Given the description of an element on the screen output the (x, y) to click on. 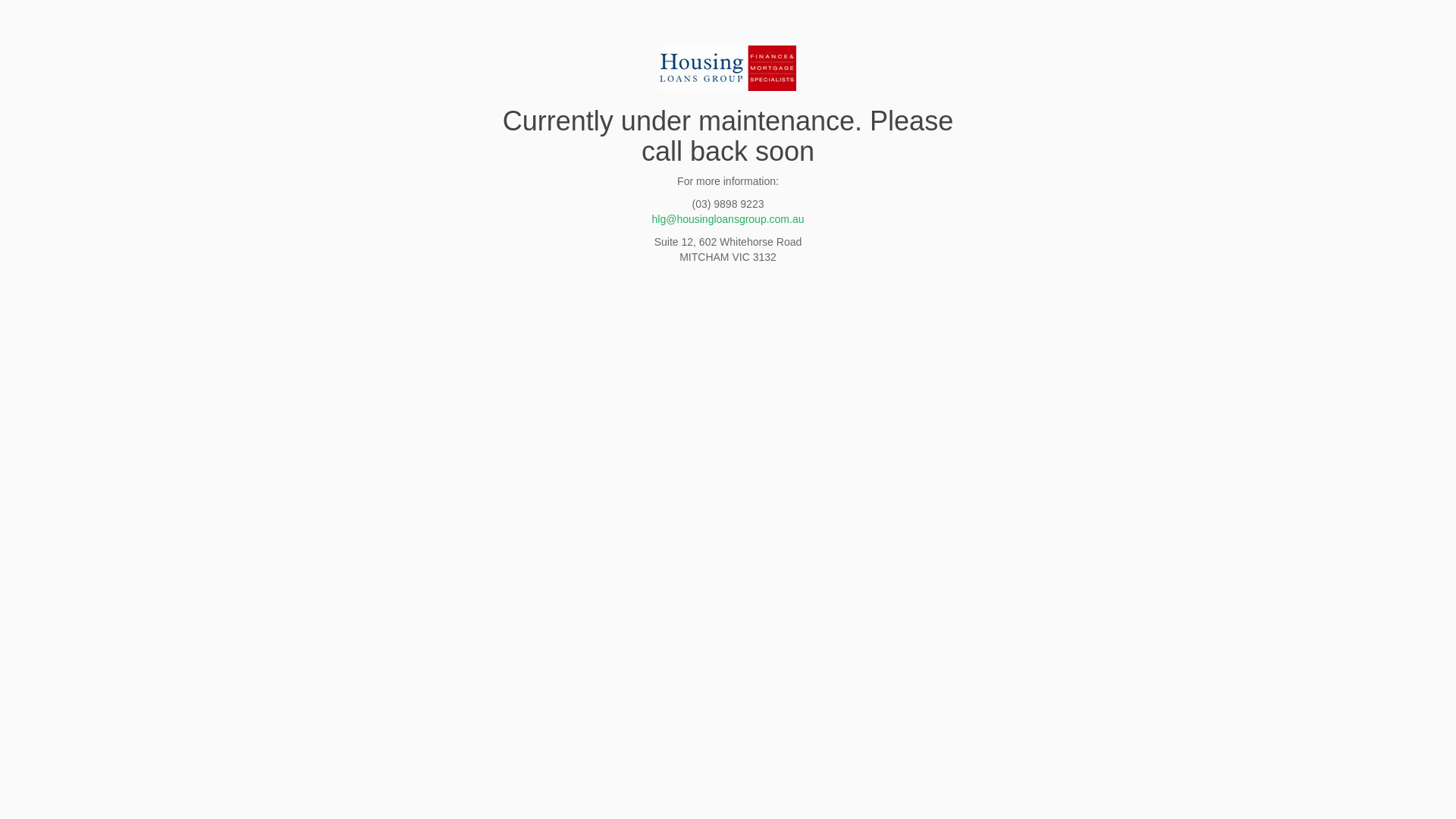
hlg@housingloansgroup.com.au Element type: text (727, 219)
